Given the description of an element on the screen output the (x, y) to click on. 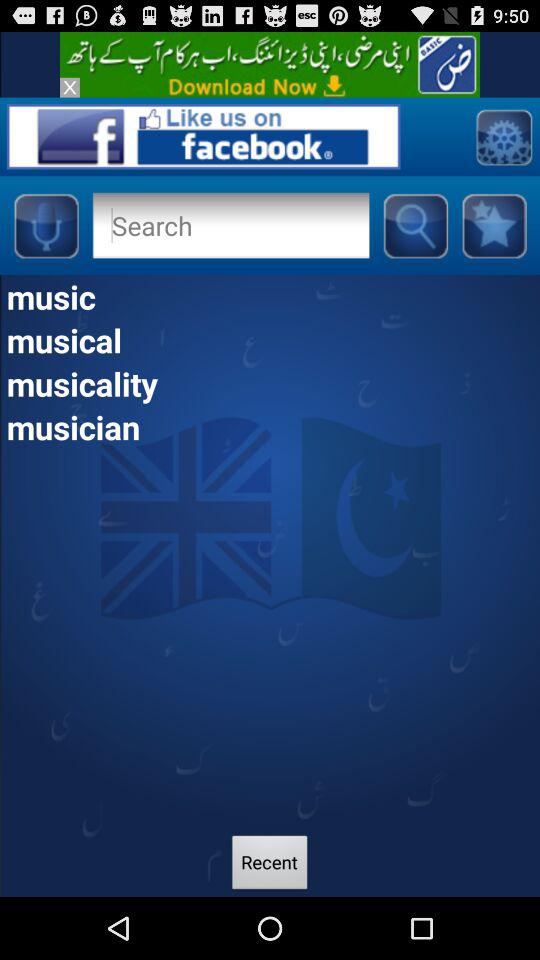
select music item (270, 296)
